Given the description of an element on the screen output the (x, y) to click on. 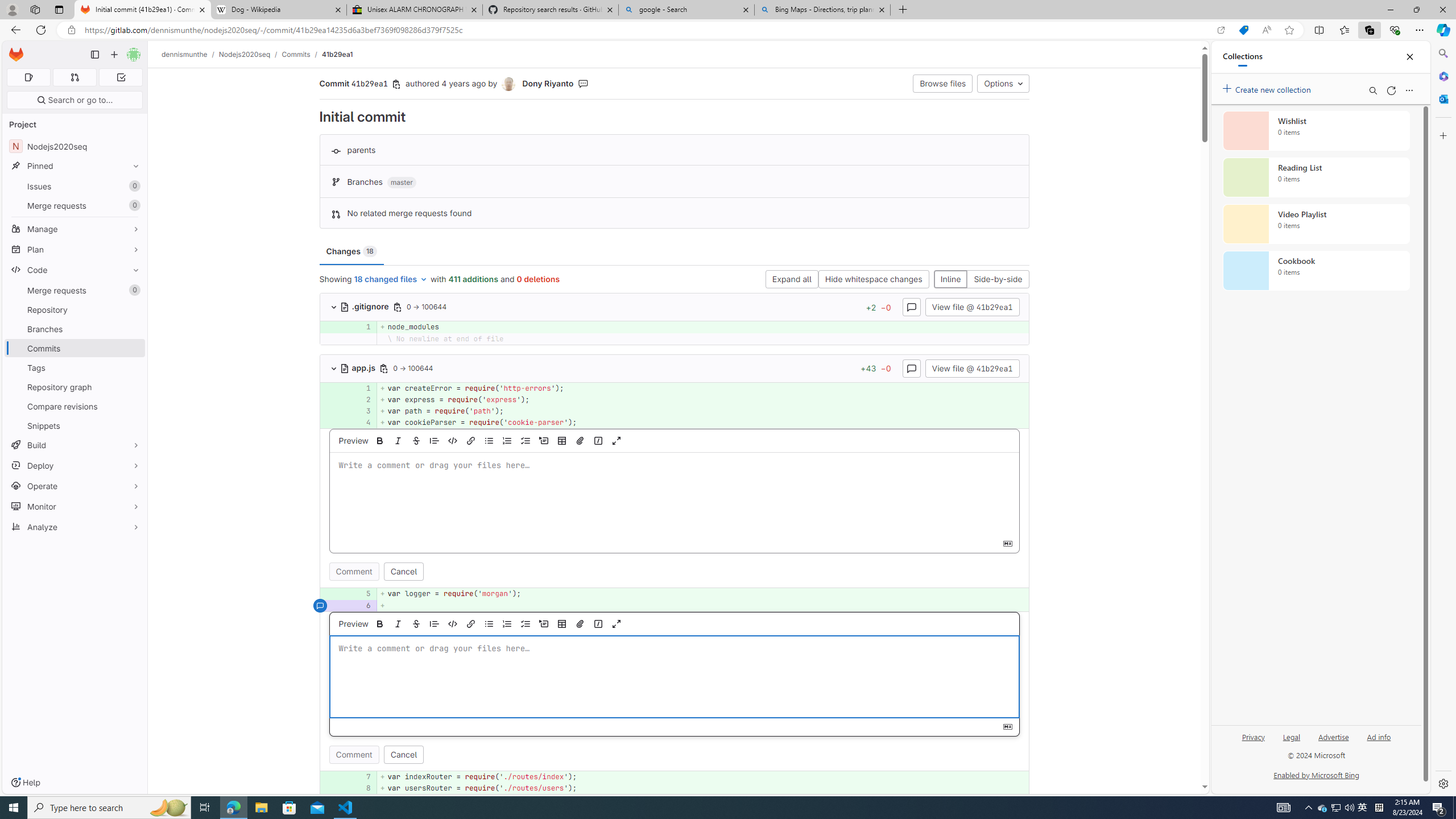
Dog - Wikipedia (277, 9)
Go full screen (616, 623)
Class: div-dropzone-icon s24 (672, 676)
1 (362, 387)
dennismunthe (184, 53)
Merge requests 0 (74, 76)
Nodejs2020seq (244, 53)
4 (360, 422)
Snippets (74, 425)
Code (74, 269)
+ var createError = require('http-errors');  (703, 387)
